Given the description of an element on the screen output the (x, y) to click on. 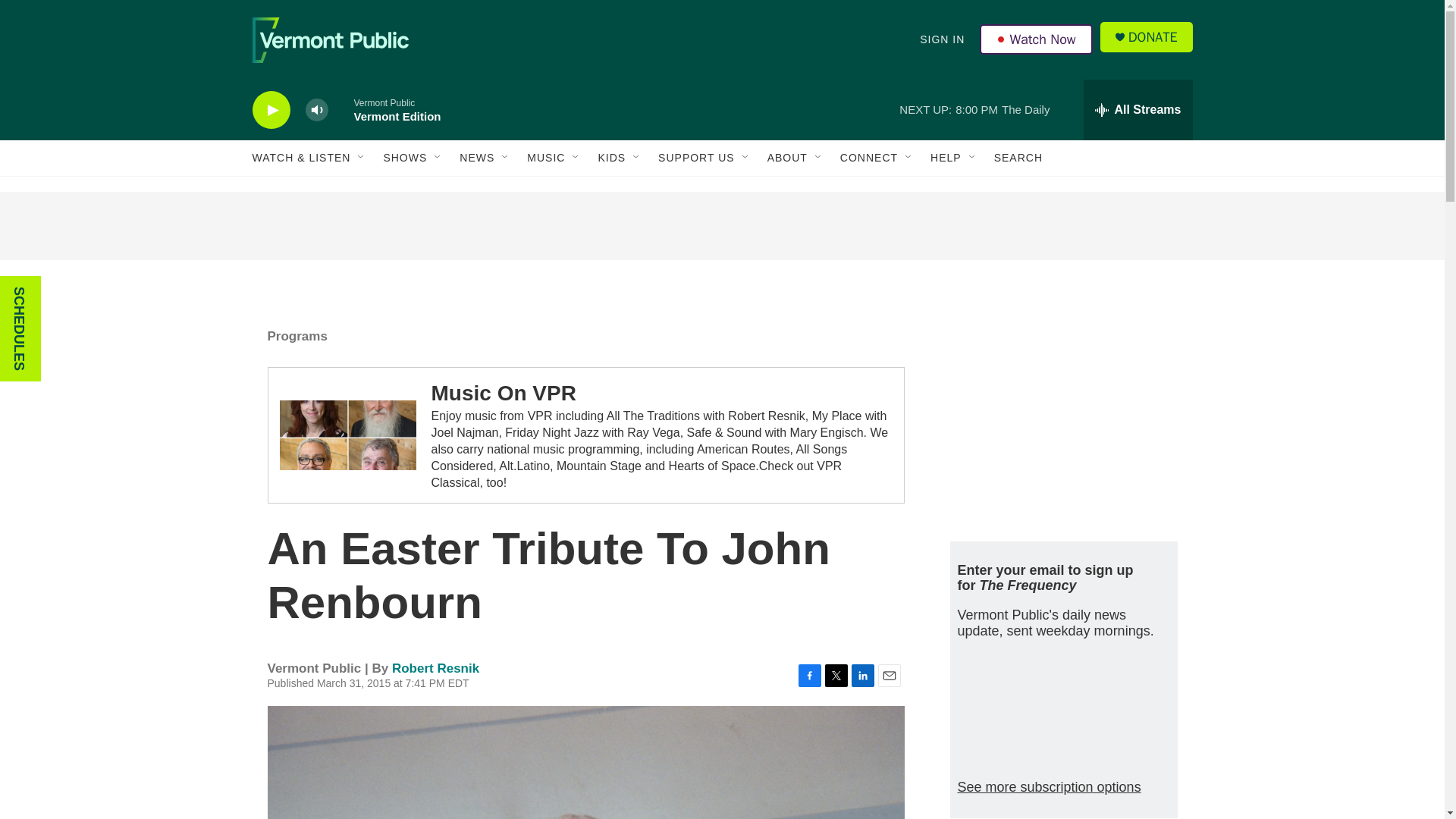
3rd party ad content (721, 225)
3rd party ad content (1062, 416)
